Given the description of an element on the screen output the (x, y) to click on. 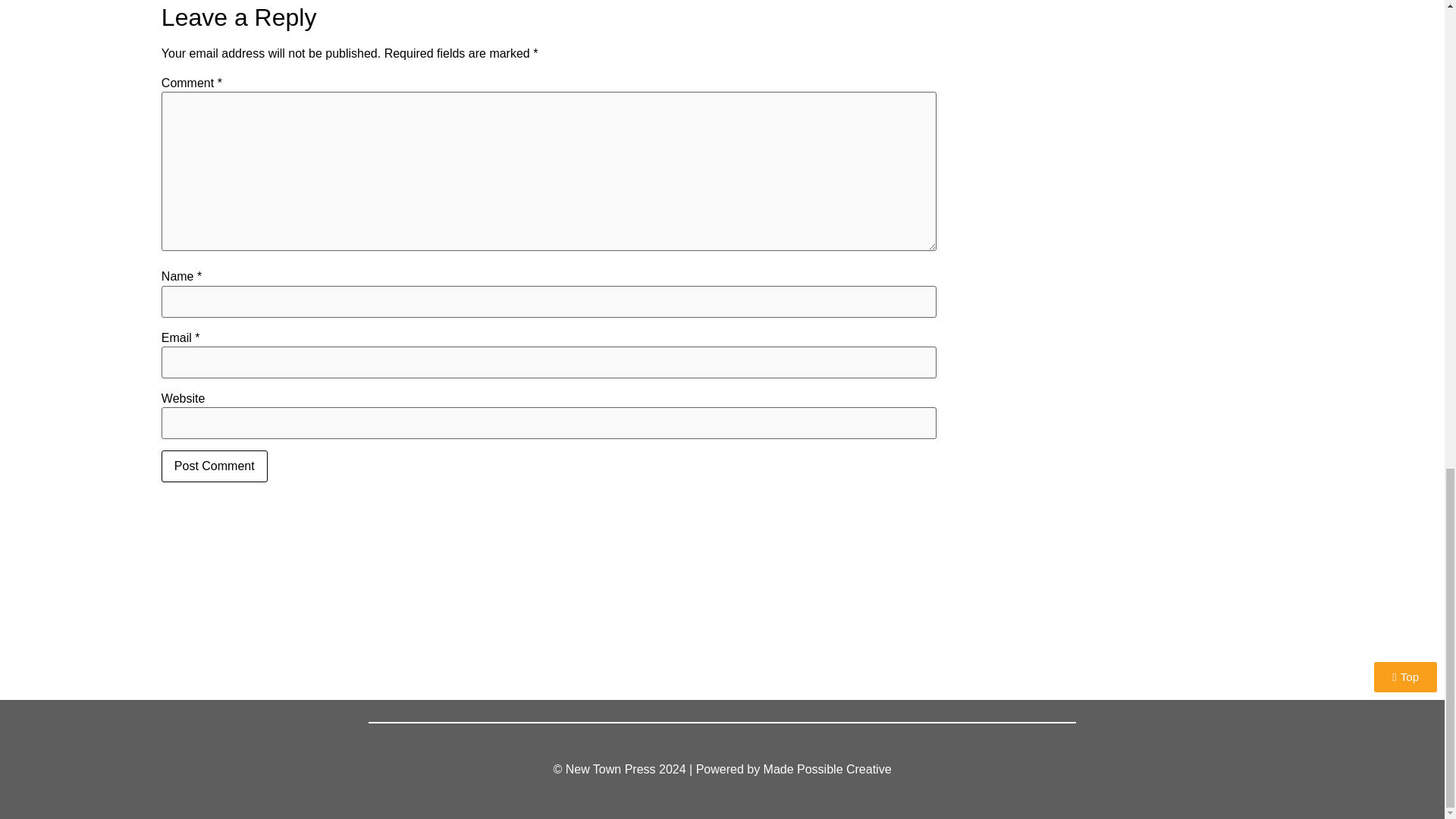
Post Comment (214, 466)
Made Possible Creative (826, 768)
Top (1405, 676)
Post Comment (214, 466)
